Given the description of an element on the screen output the (x, y) to click on. 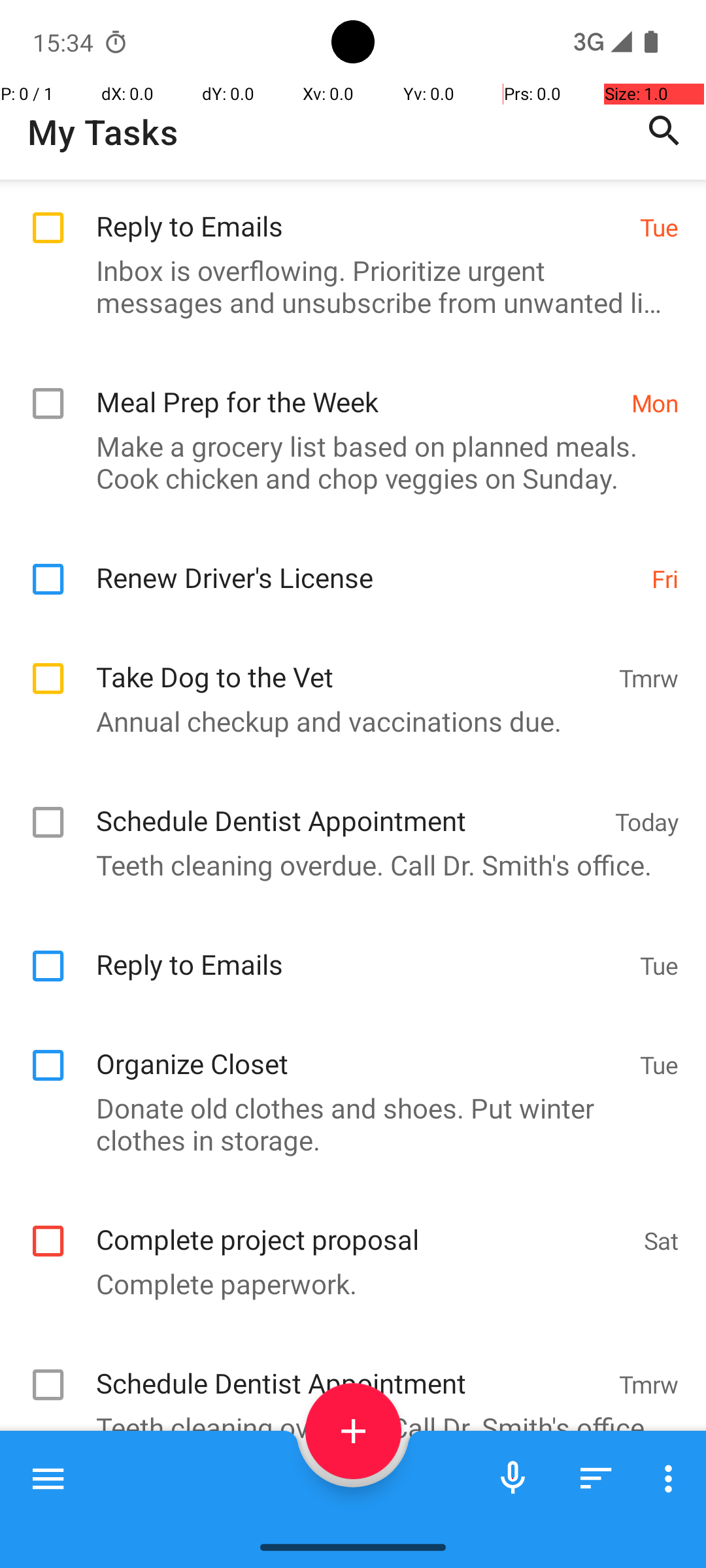
Complete project proposal Element type: android.widget.TextView (363, 1224)
Complete paperwork. Element type: android.widget.TextView (346, 1283)
